Given the description of an element on the screen output the (x, y) to click on. 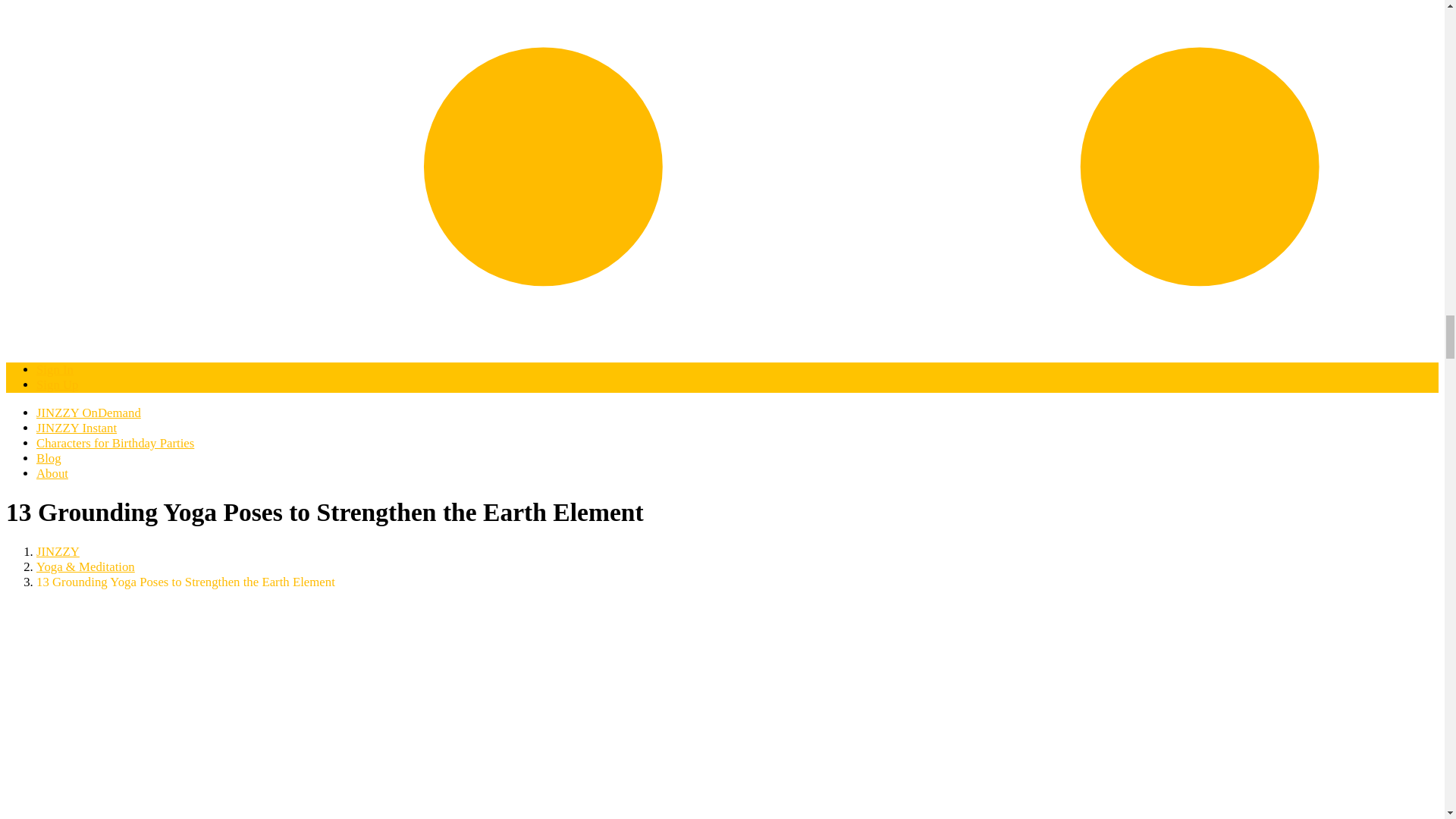
Characters for Birthday Parties (114, 442)
JINZZY Instant (76, 427)
Go to JINZZY. (58, 551)
Blog (48, 458)
About (52, 473)
Sign In (55, 369)
JINZZY (58, 551)
Sign Up (57, 384)
JINZZY OnDemand (88, 412)
